Given the description of an element on the screen output the (x, y) to click on. 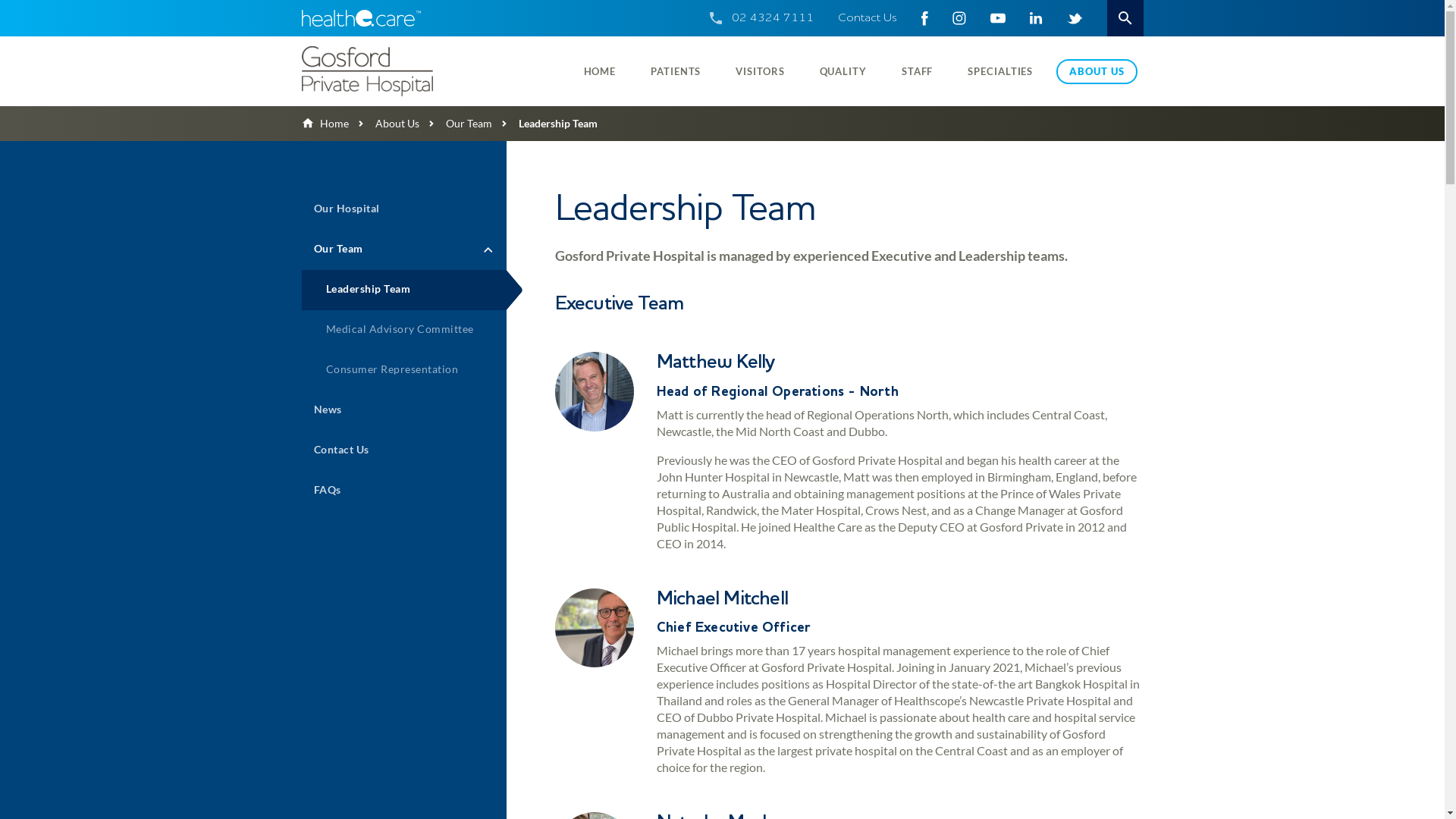
STAFF Element type: text (917, 70)
QUALITY Element type: text (843, 70)
Leadership Team Element type: text (403, 289)
Home Element type: text (324, 122)
Our Team Element type: text (403, 249)
PATIENTS Element type: text (675, 70)
SPECIALTIES Element type: text (1000, 70)
About Us Element type: text (383, 122)
ABOUT US
(CURRENT) Element type: text (1096, 71)
02 4324 7111 Element type: text (771, 18)
Contact Us Element type: text (866, 18)
LinkedIn - 292626 Element type: text (1035, 18)
HOME Element type: text (599, 70)
instagram page - GosfordPrivate Element type: text (959, 18)
Medical Advisory Committee Element type: text (403, 330)
Consumer Representation Element type: text (403, 370)
Contact Us Element type: text (403, 450)
Facebook page - GosfordPrivateHospital Element type: text (923, 17)
News Element type: text (403, 410)
Gosford Private Hospital Element type: text (399, 71)
VISITORS Element type: text (759, 70)
FAQs Element type: text (403, 490)
Twitter - HealtheCareAust Element type: text (1074, 17)
Our Team Element type: text (454, 122)
youTube channel page - UCYdRkPt4HYKqI4pzH-cnSTA Element type: text (997, 17)
Our Hospital Element type: text (403, 209)
